Given the description of an element on the screen output the (x, y) to click on. 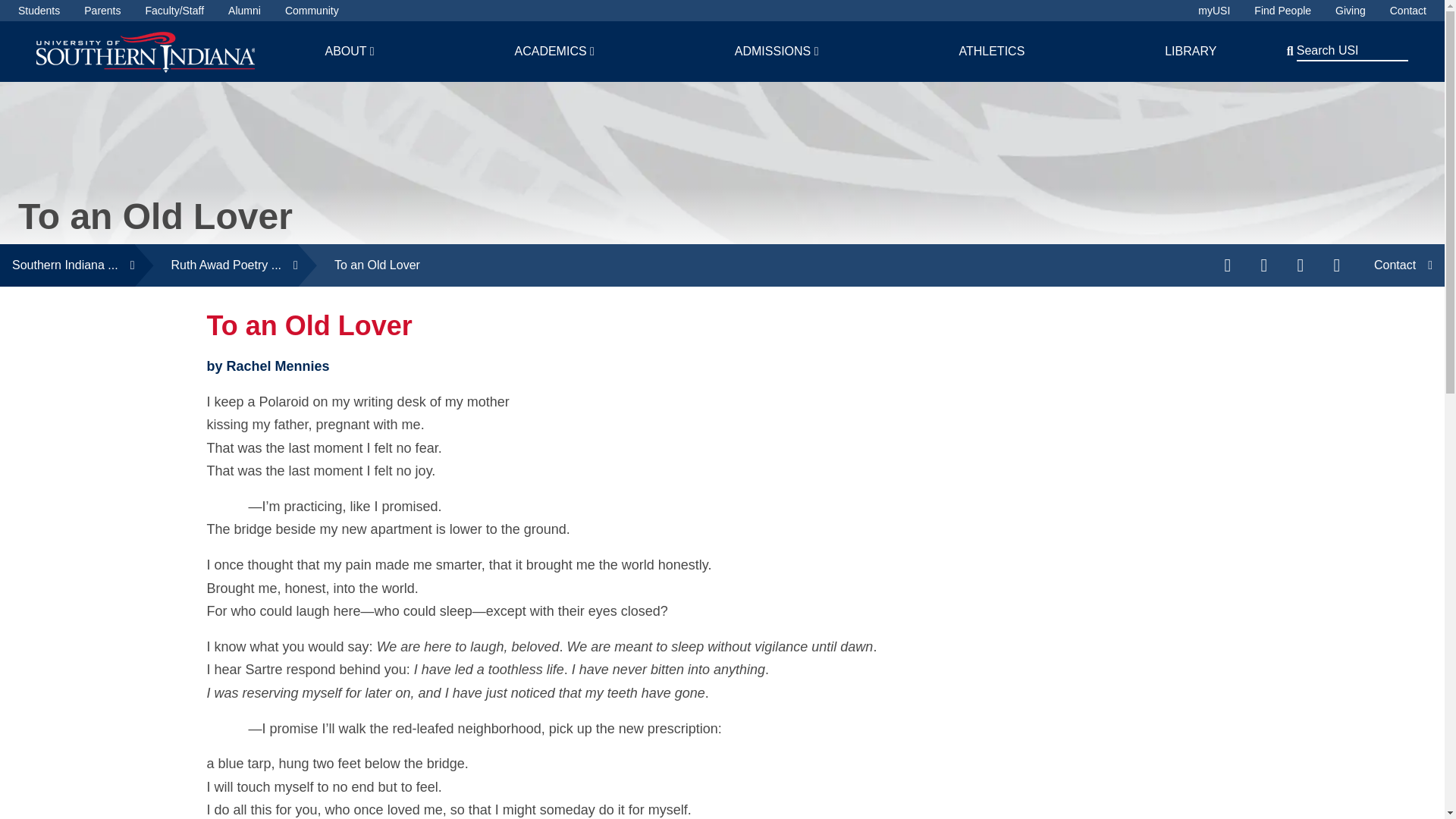
Parents (102, 10)
Contact (1408, 10)
Alumni (244, 10)
Community (312, 10)
myUSI (1214, 10)
Ruth Awad Poetry Picks (216, 265)
University of Southern Indiana (145, 50)
Students (38, 10)
Southern Indiana Review (67, 265)
Giving (1350, 10)
Find People (1282, 10)
